Given the description of an element on the screen output the (x, y) to click on. 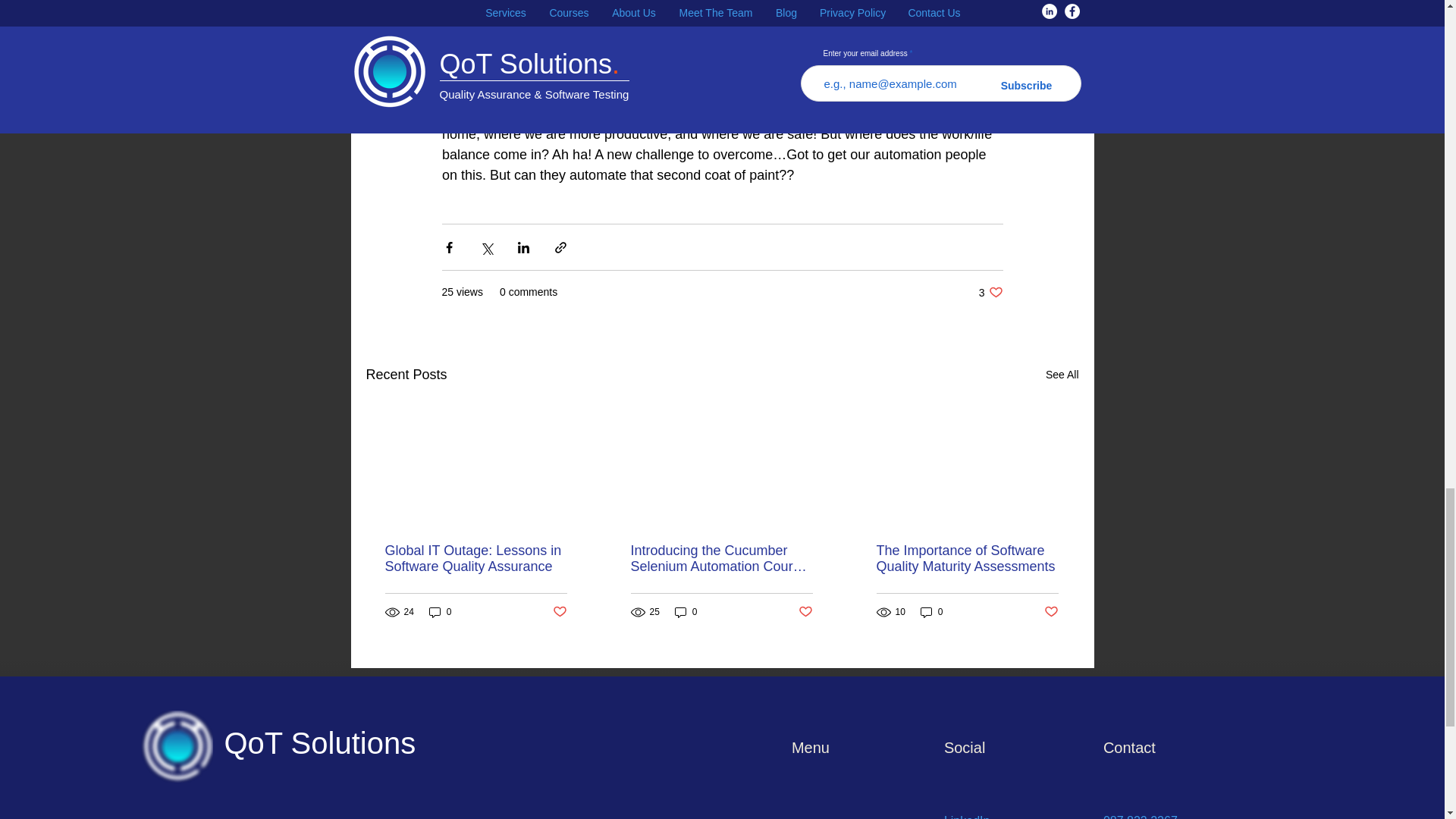
See All (1061, 374)
